Given the description of an element on the screen output the (x, y) to click on. 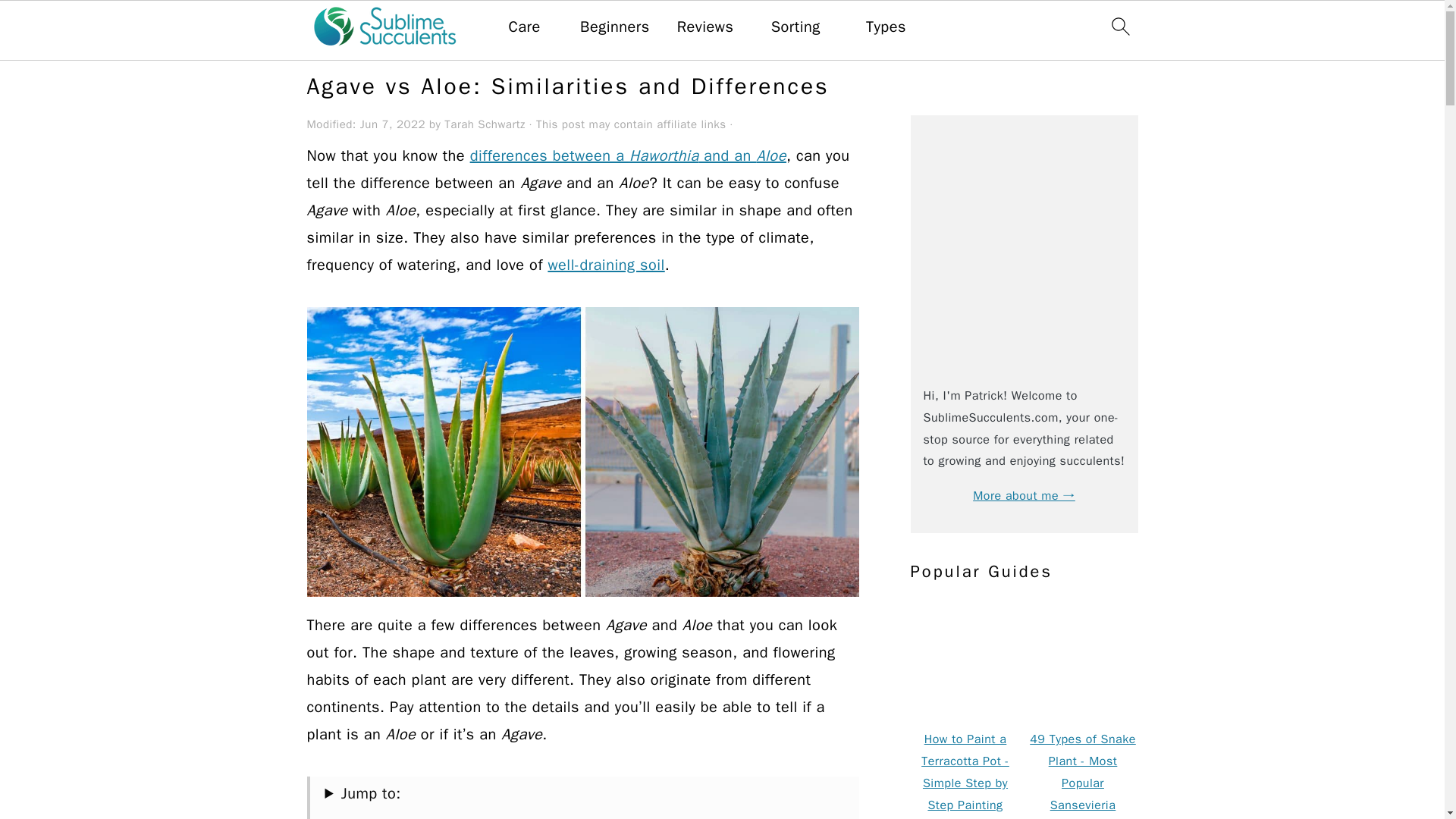
search icon (1119, 26)
